Given the description of an element on the screen output the (x, y) to click on. 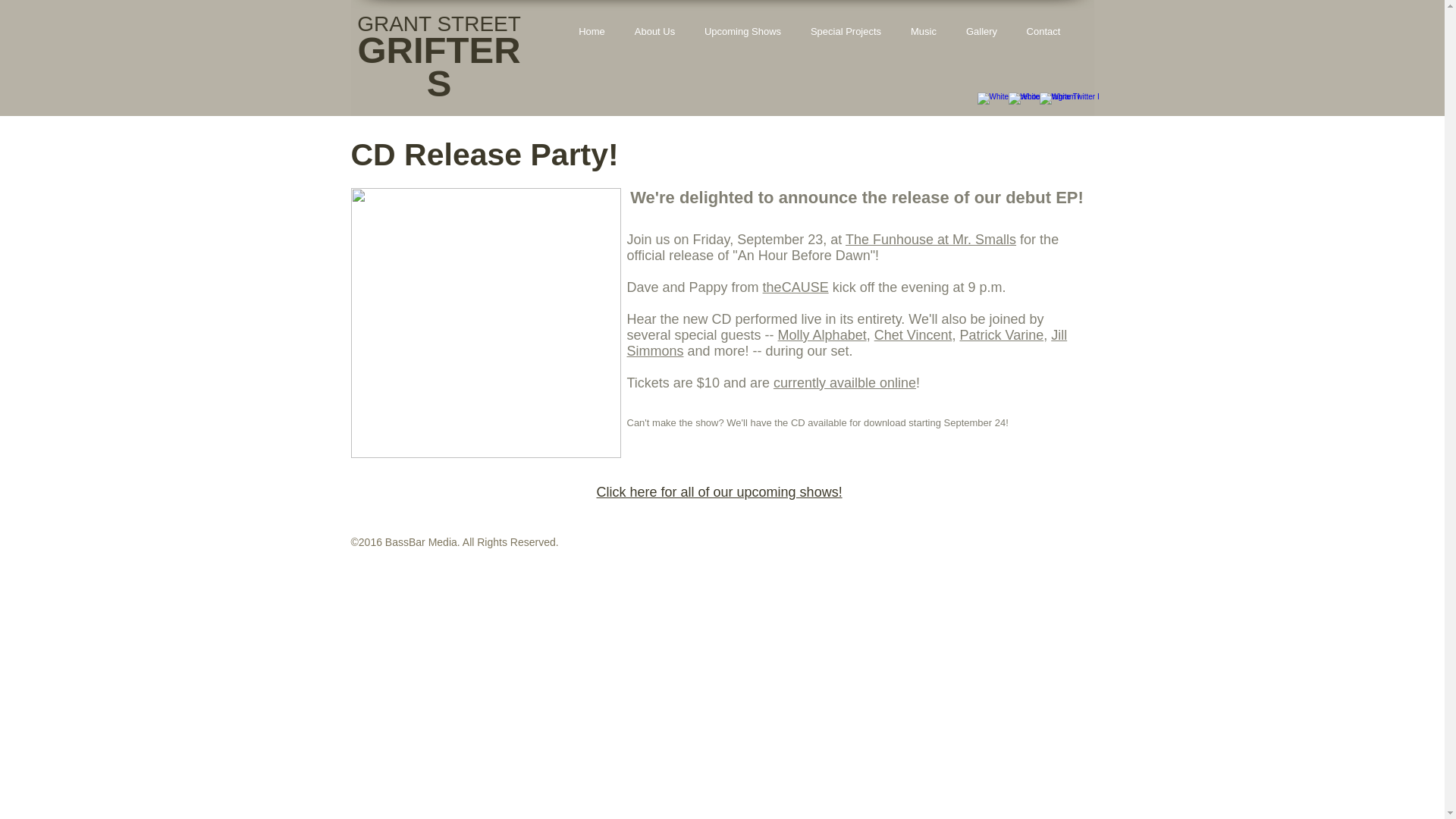
Music (924, 31)
currently availble online (844, 382)
Chet Vincent (913, 335)
Home (592, 31)
About Us (655, 31)
GRIFTERS (437, 66)
Click here for all of our upcoming shows! (718, 491)
Patrick Varine (1001, 335)
Contact (1042, 31)
Molly Alphabet (821, 335)
